Given the description of an element on the screen output the (x, y) to click on. 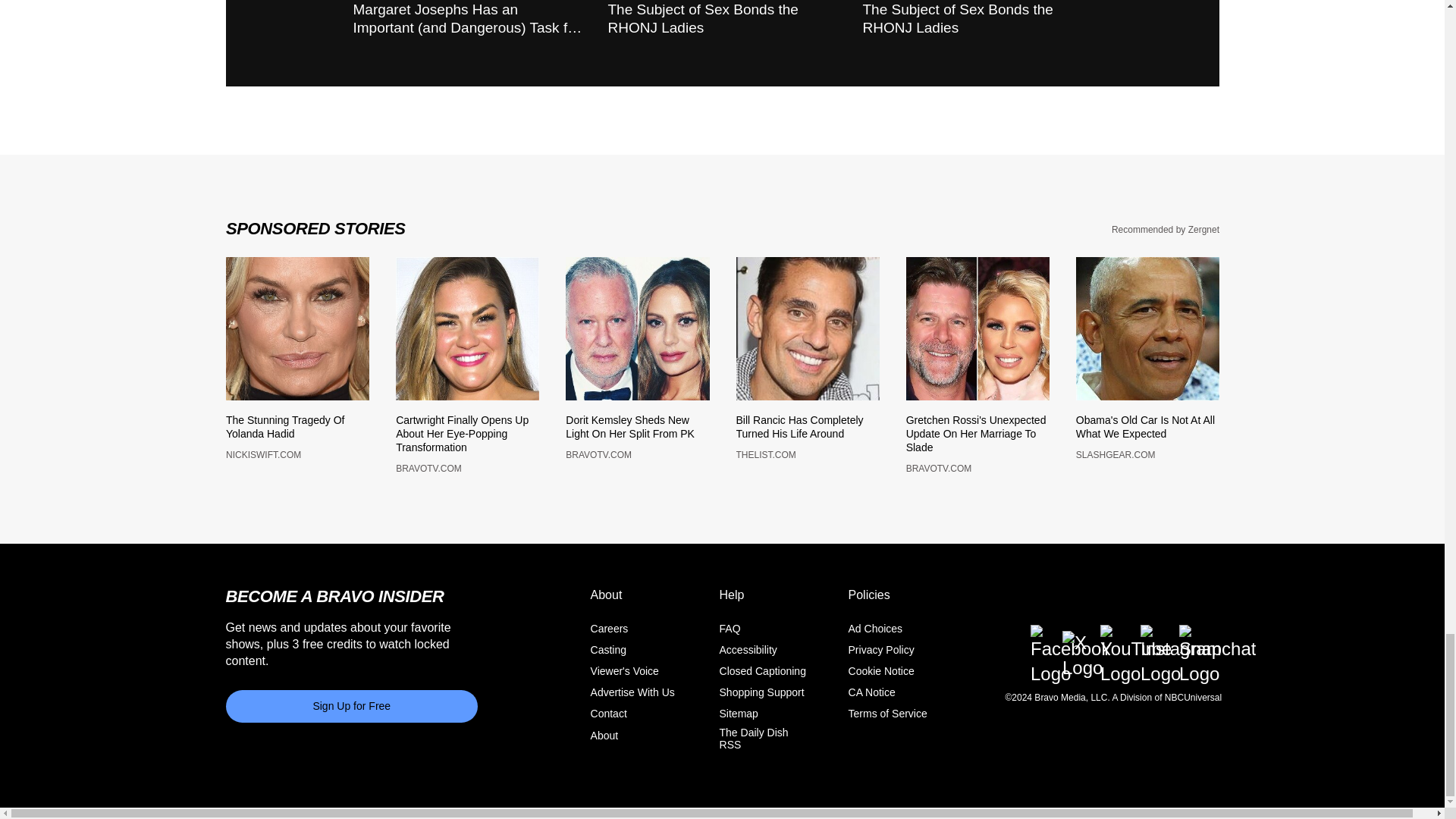
Advertise With Us (633, 701)
